Given the description of an element on the screen output the (x, y) to click on. 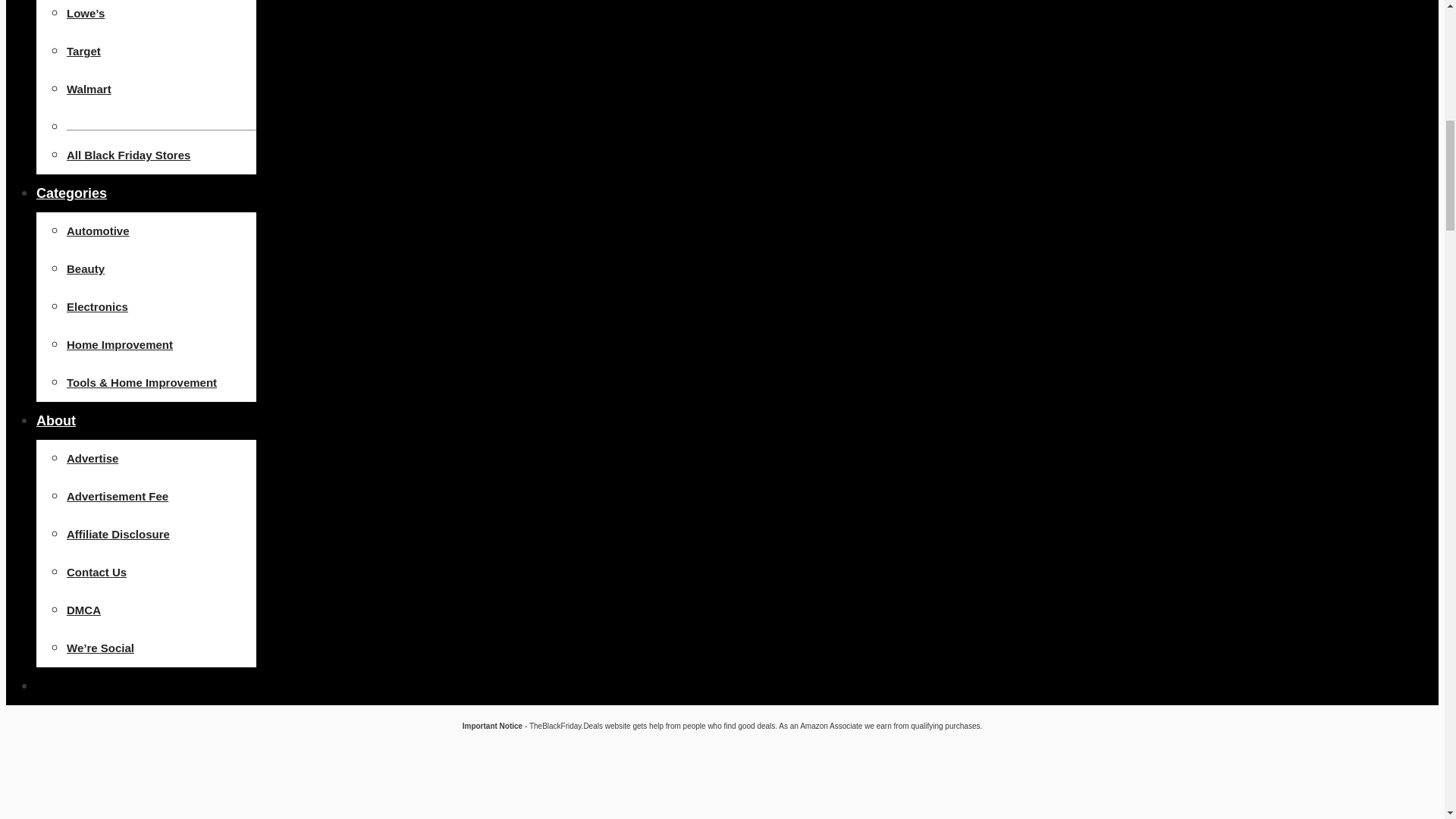
Target (83, 51)
Home Improvement (119, 344)
Advertisement Fee (117, 495)
DMCA (83, 609)
All Black Friday Stores (128, 154)
Affiliate Disclosure (118, 533)
Walmart (89, 88)
Electronics (97, 306)
About (55, 420)
Categories (71, 192)
